Given the description of an element on the screen output the (x, y) to click on. 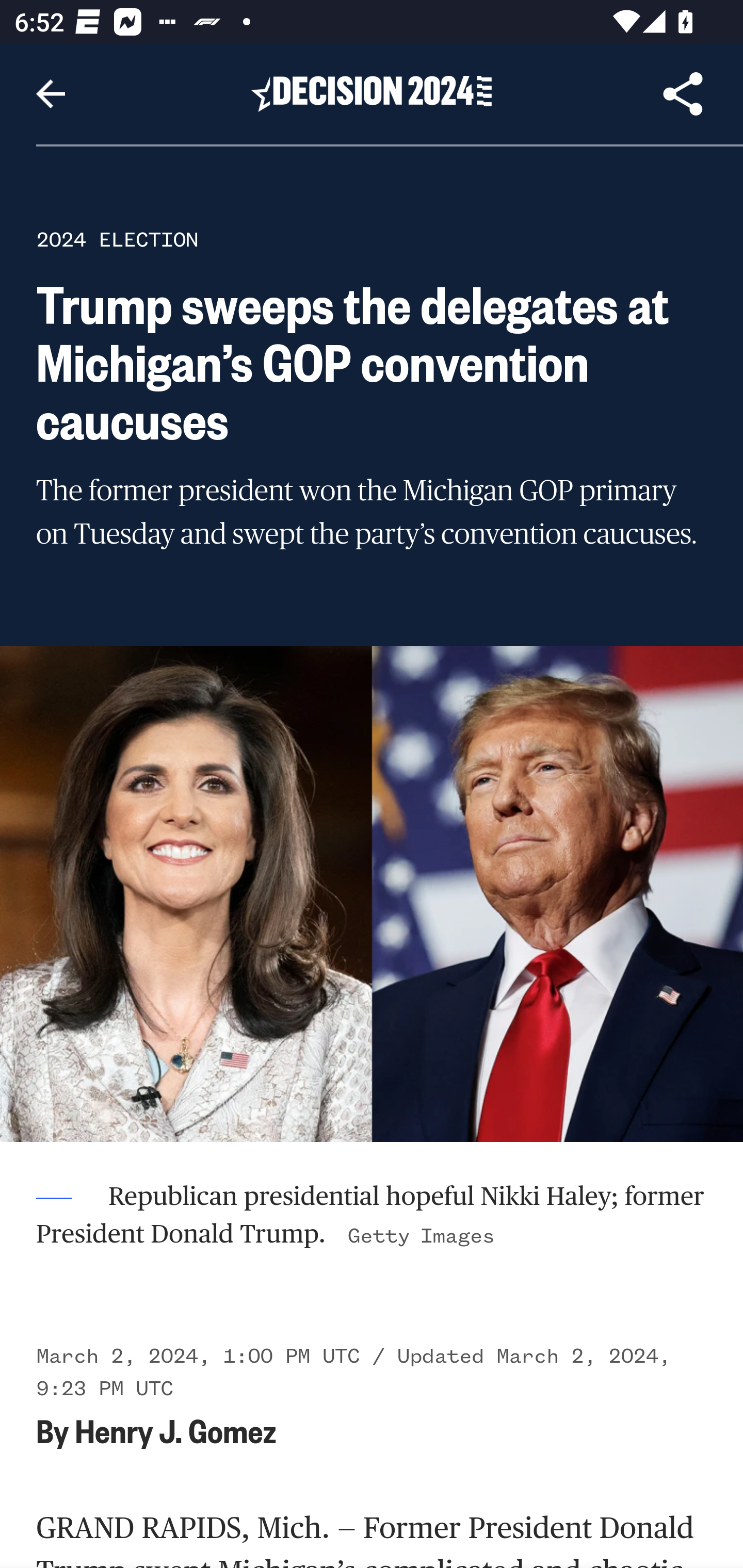
Navigate up (50, 93)
Share Article, button (683, 94)
Header, Decision 2024 (371, 93)
2024 ELECTION (117, 239)
